Given the description of an element on the screen output the (x, y) to click on. 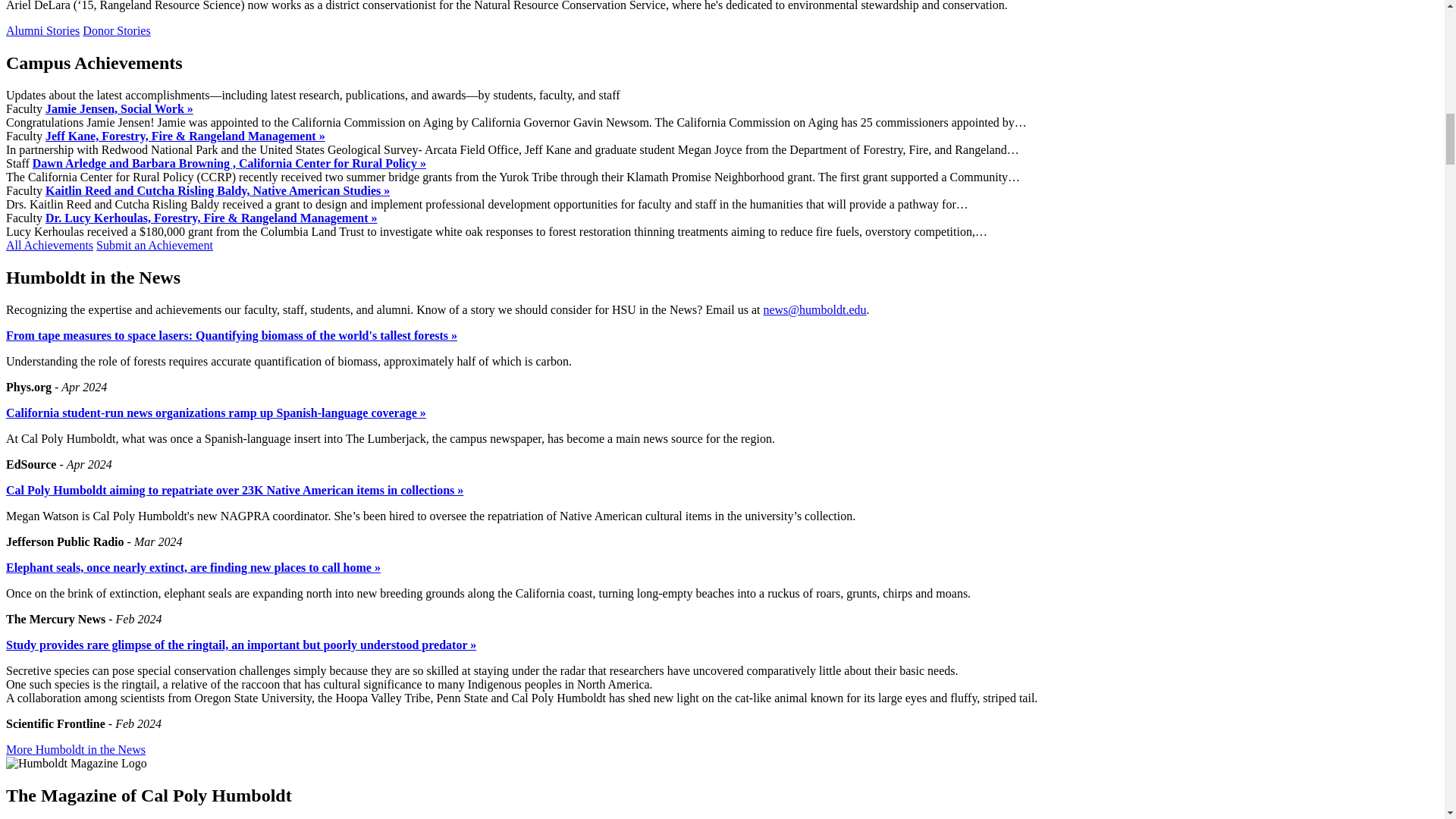
Alumni Stories (42, 30)
Donor Stories (115, 30)
